Given the description of an element on the screen output the (x, y) to click on. 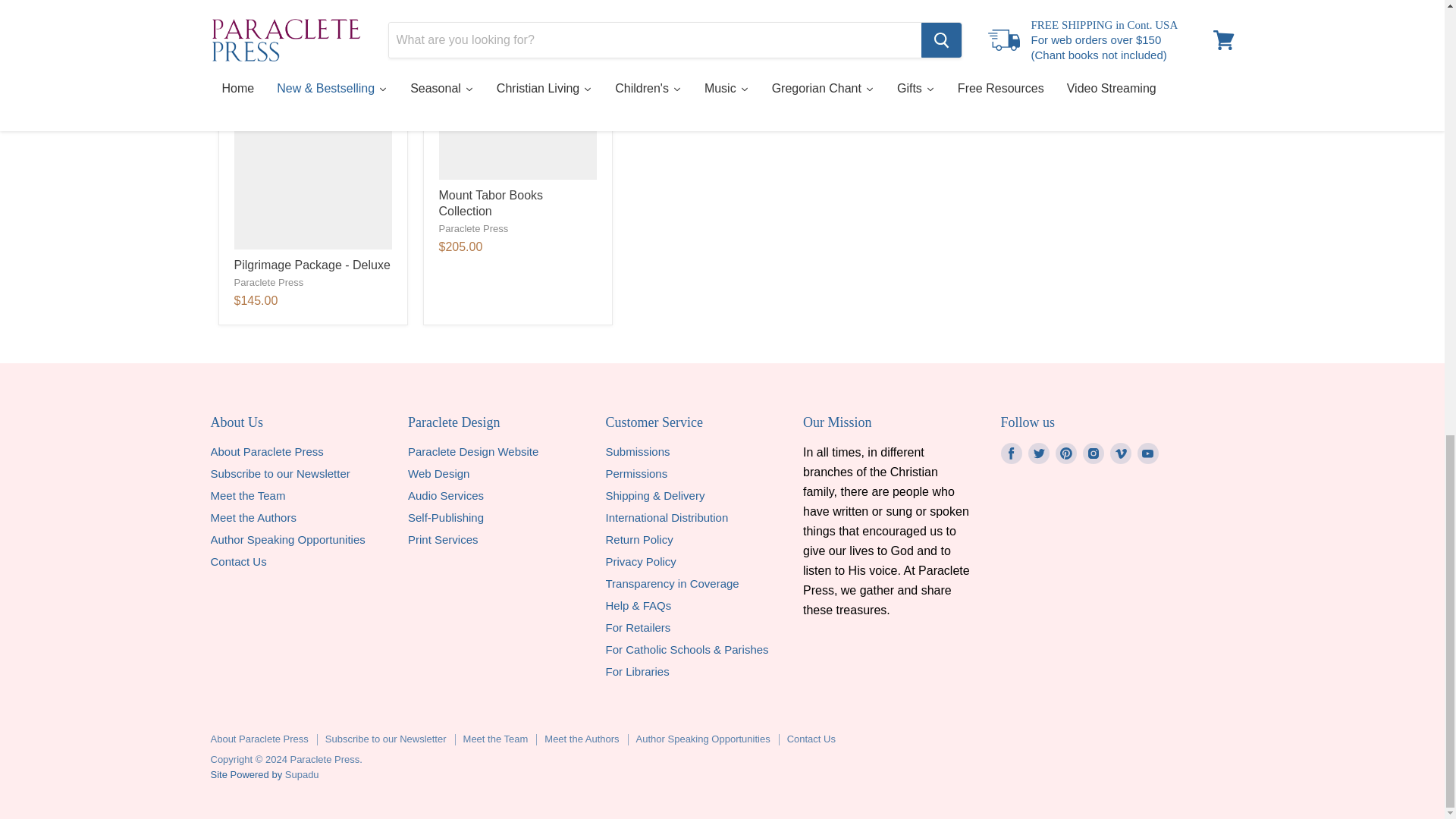
Facebook (1011, 452)
Pinterest (1066, 452)
Youtube (1147, 452)
Vimeo (1120, 452)
Twitter (1038, 452)
Instagram (1093, 452)
